Given the description of an element on the screen output the (x, y) to click on. 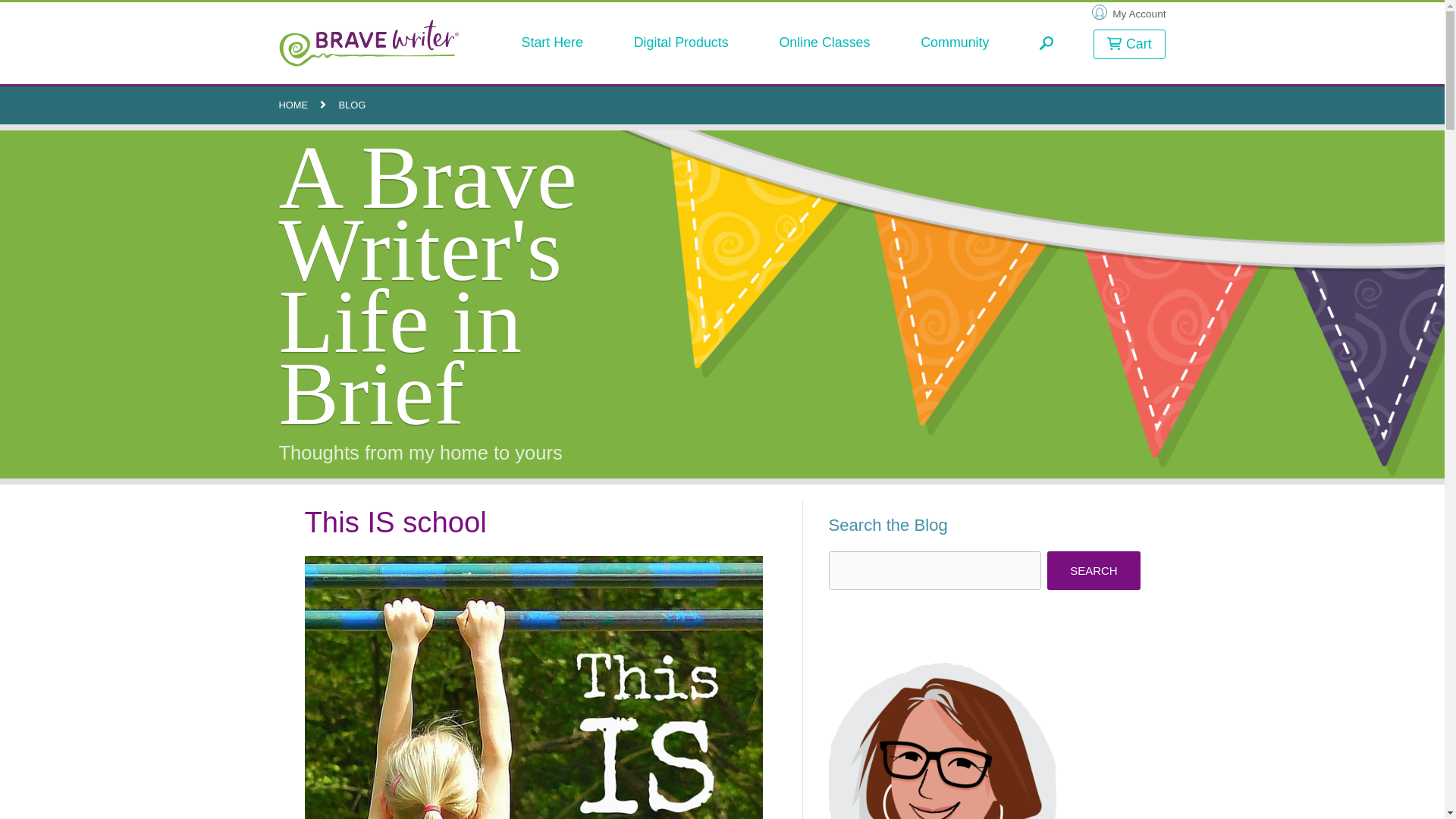
Search (1093, 570)
